Given the description of an element on the screen output the (x, y) to click on. 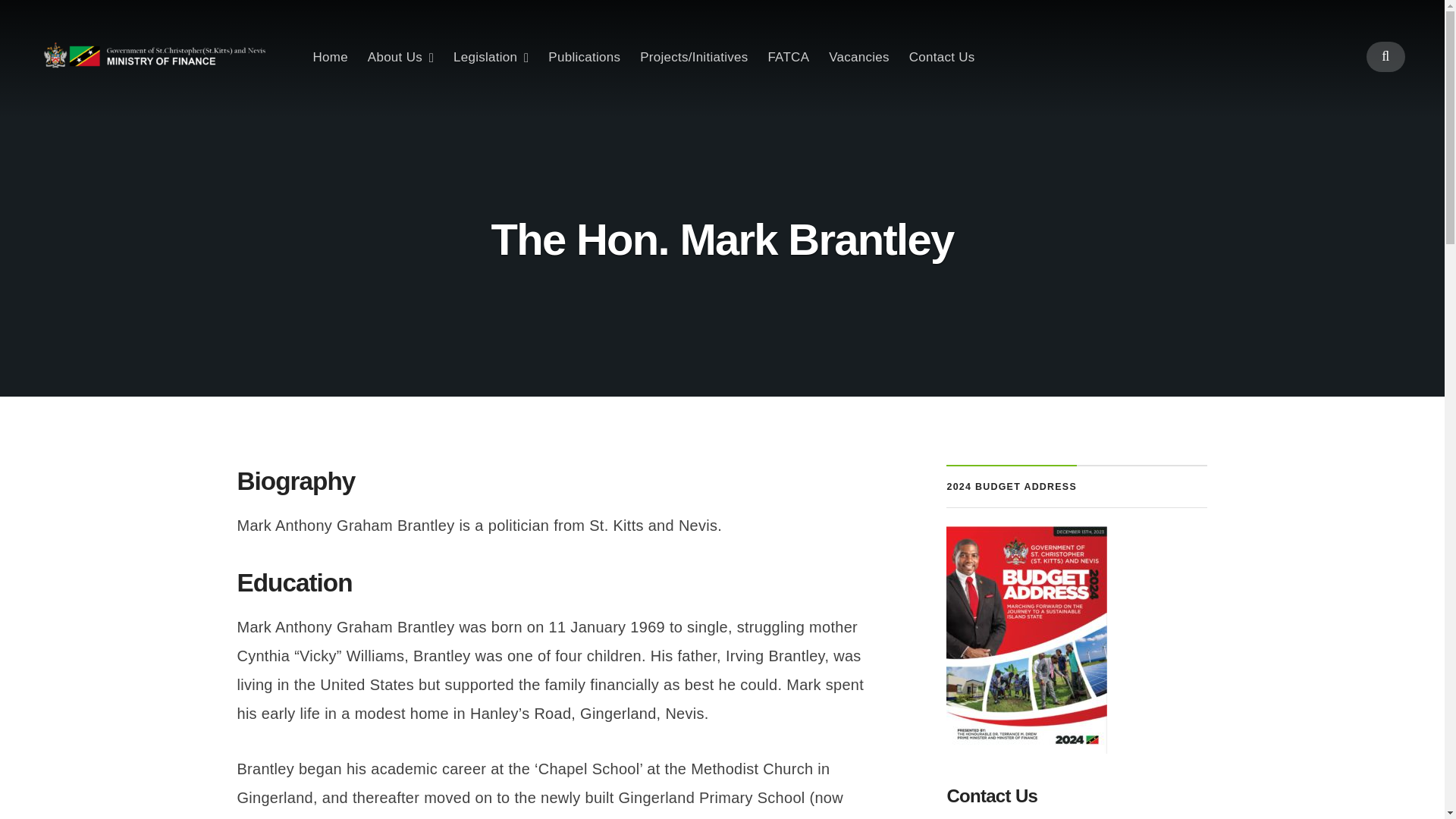
Search (721, 431)
Home (330, 56)
Legislation (490, 56)
FATCA (788, 56)
Contact Us (941, 56)
About Us (400, 56)
Publications (584, 56)
Vacancies (858, 56)
